Given the description of an element on the screen output the (x, y) to click on. 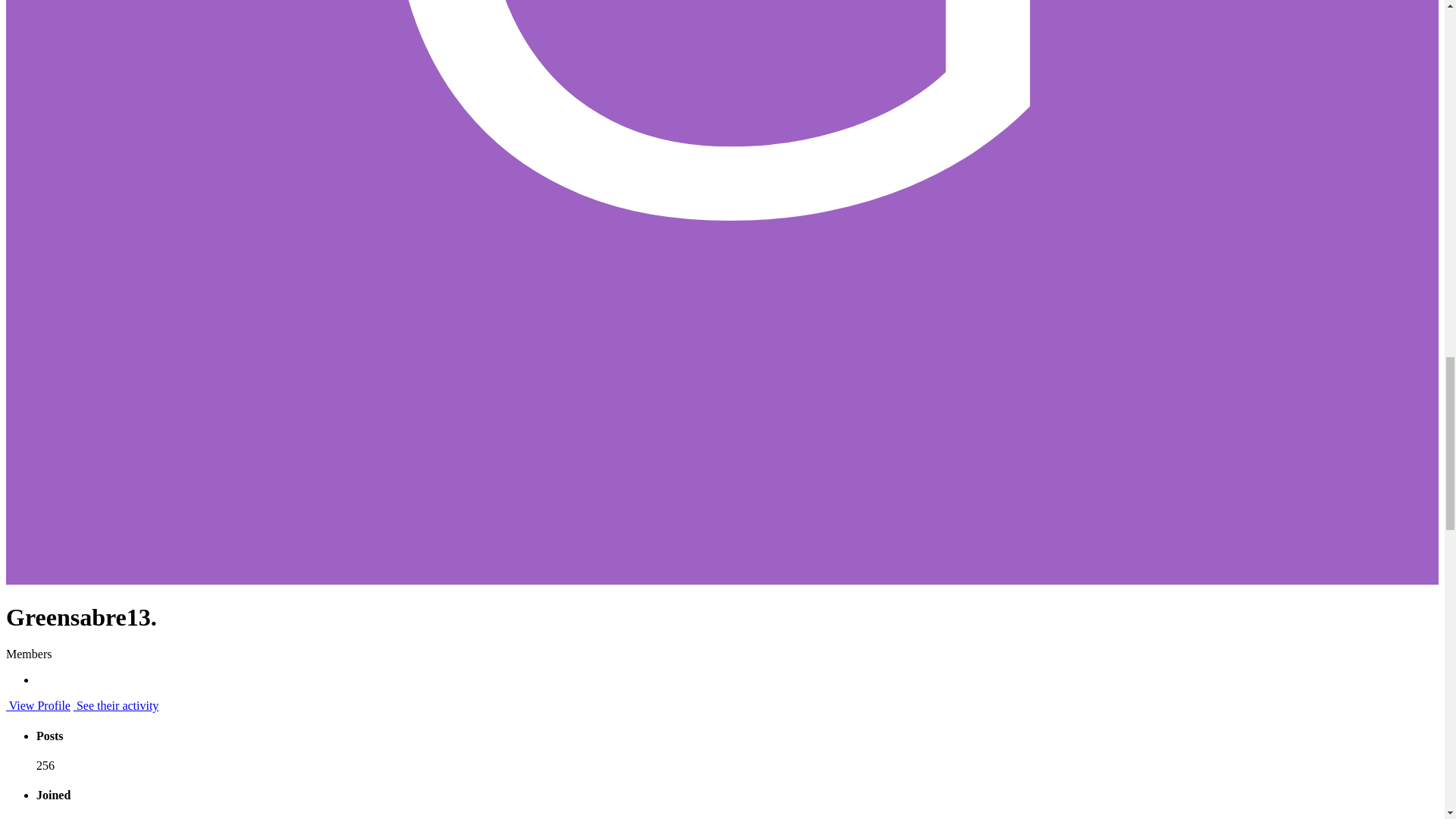
Greensabre13.'s Profile (37, 705)
Greensabre13.'s Content (116, 705)
 See their activity (116, 705)
 View Profile (37, 705)
